Given the description of an element on the screen output the (x, y) to click on. 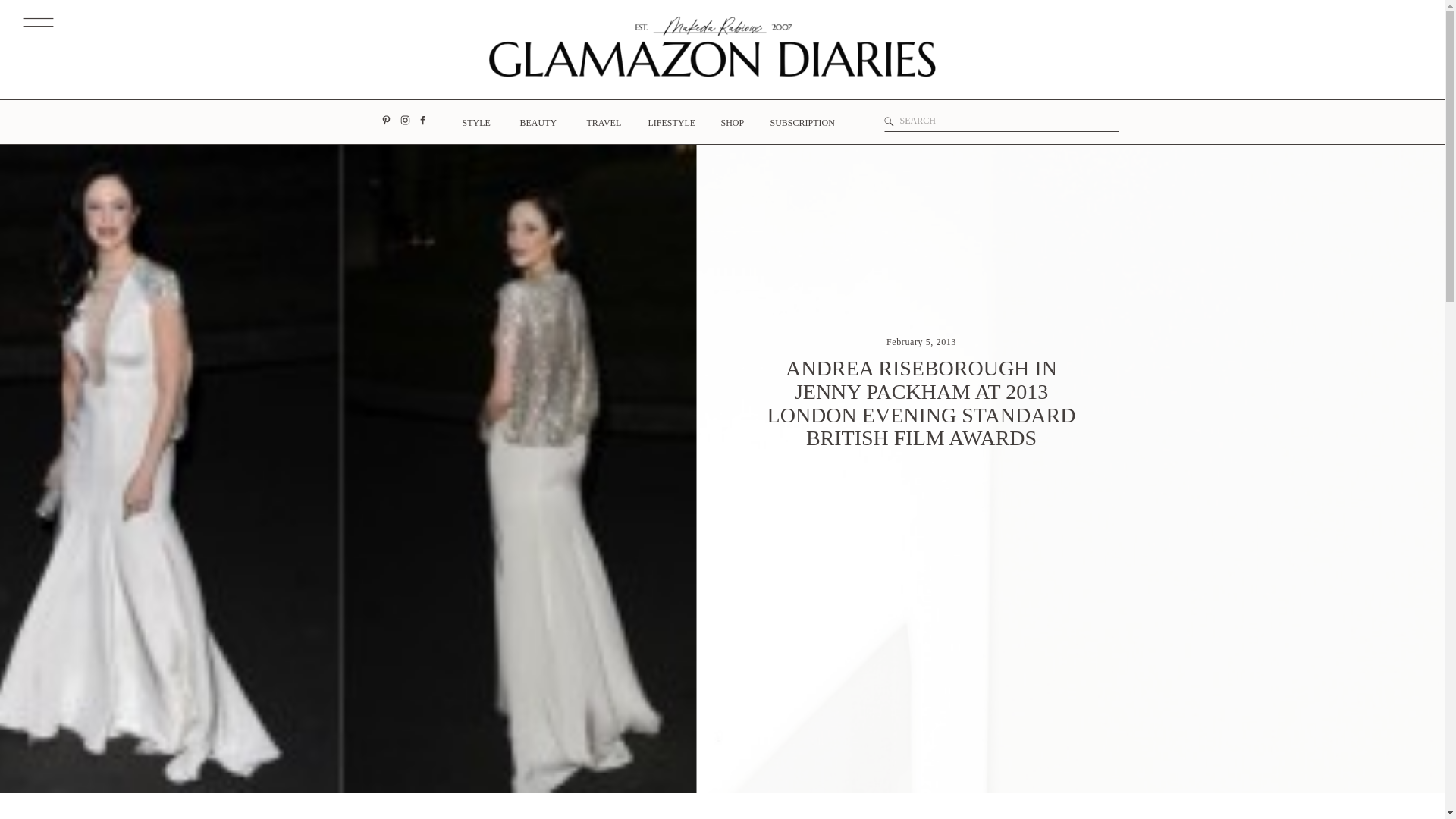
SHOP (731, 126)
TRAVEL (600, 126)
LIFESTYLE (666, 126)
SUBSCRIPTION (801, 126)
STYLE (474, 123)
BEAUTY (536, 126)
